Given the description of an element on the screen output the (x, y) to click on. 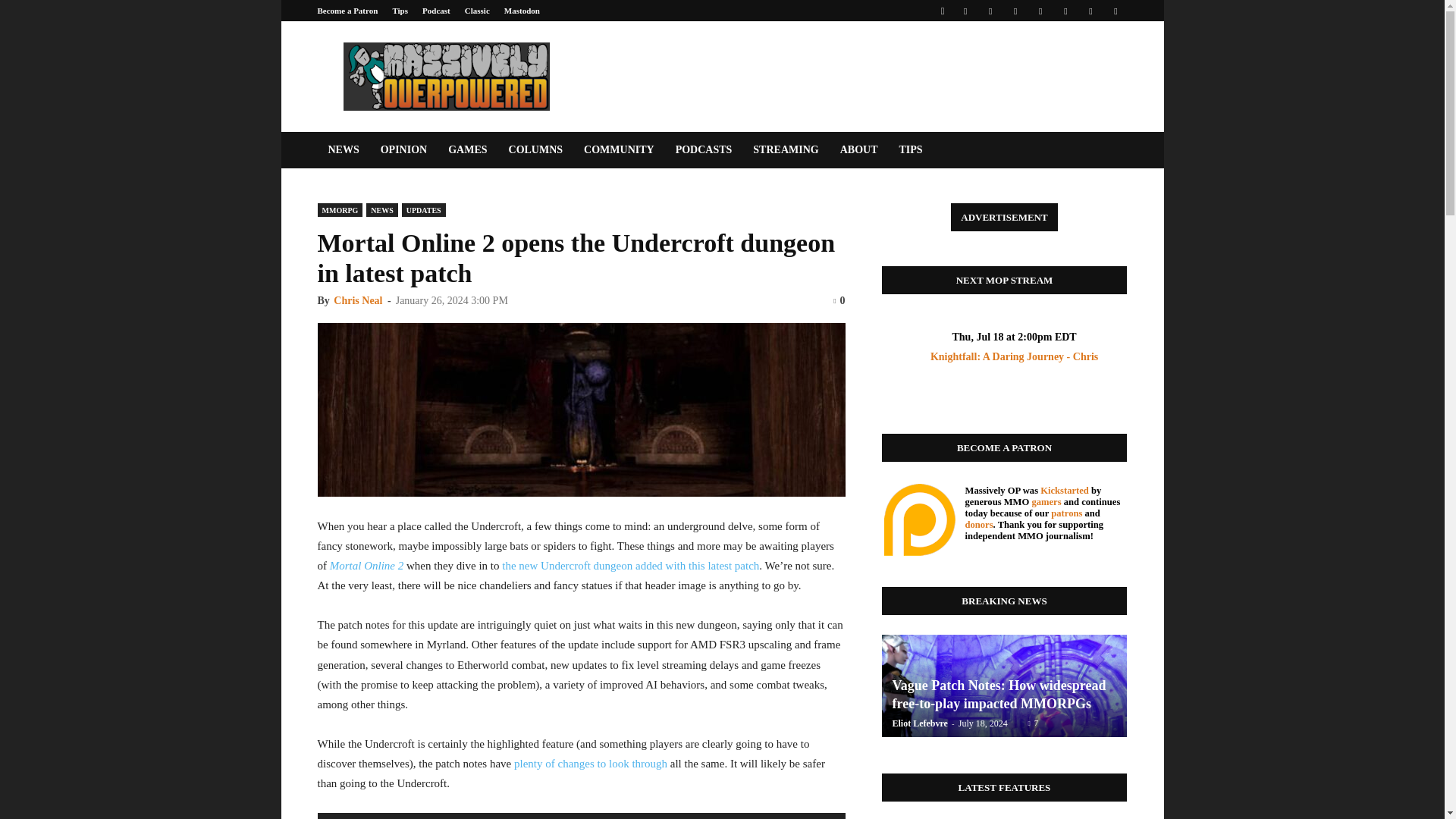
Twitter (1090, 10)
Facebook (964, 10)
Twitch (1065, 10)
MassivelyOP.com (445, 76)
Paypal (1015, 10)
Patreon (989, 10)
RSS (1040, 10)
Youtube (1114, 10)
